Given the description of an element on the screen output the (x, y) to click on. 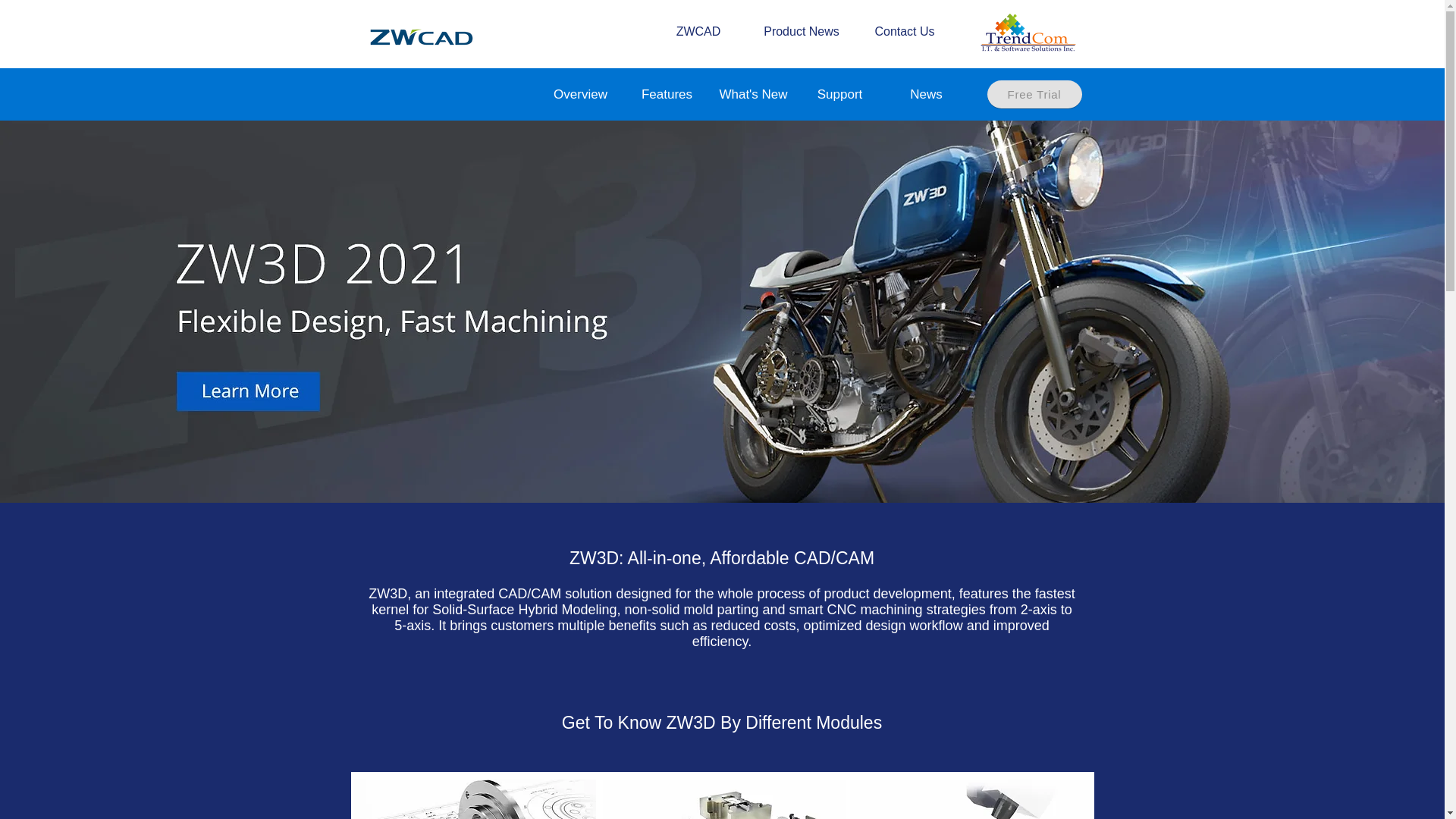
Free Trial (1034, 94)
News (925, 93)
ZWCAD (697, 31)
What's New (753, 93)
Features (666, 93)
Support (839, 93)
Overview (580, 93)
Product News (801, 31)
Contact Us (904, 31)
